Given the description of an element on the screen output the (x, y) to click on. 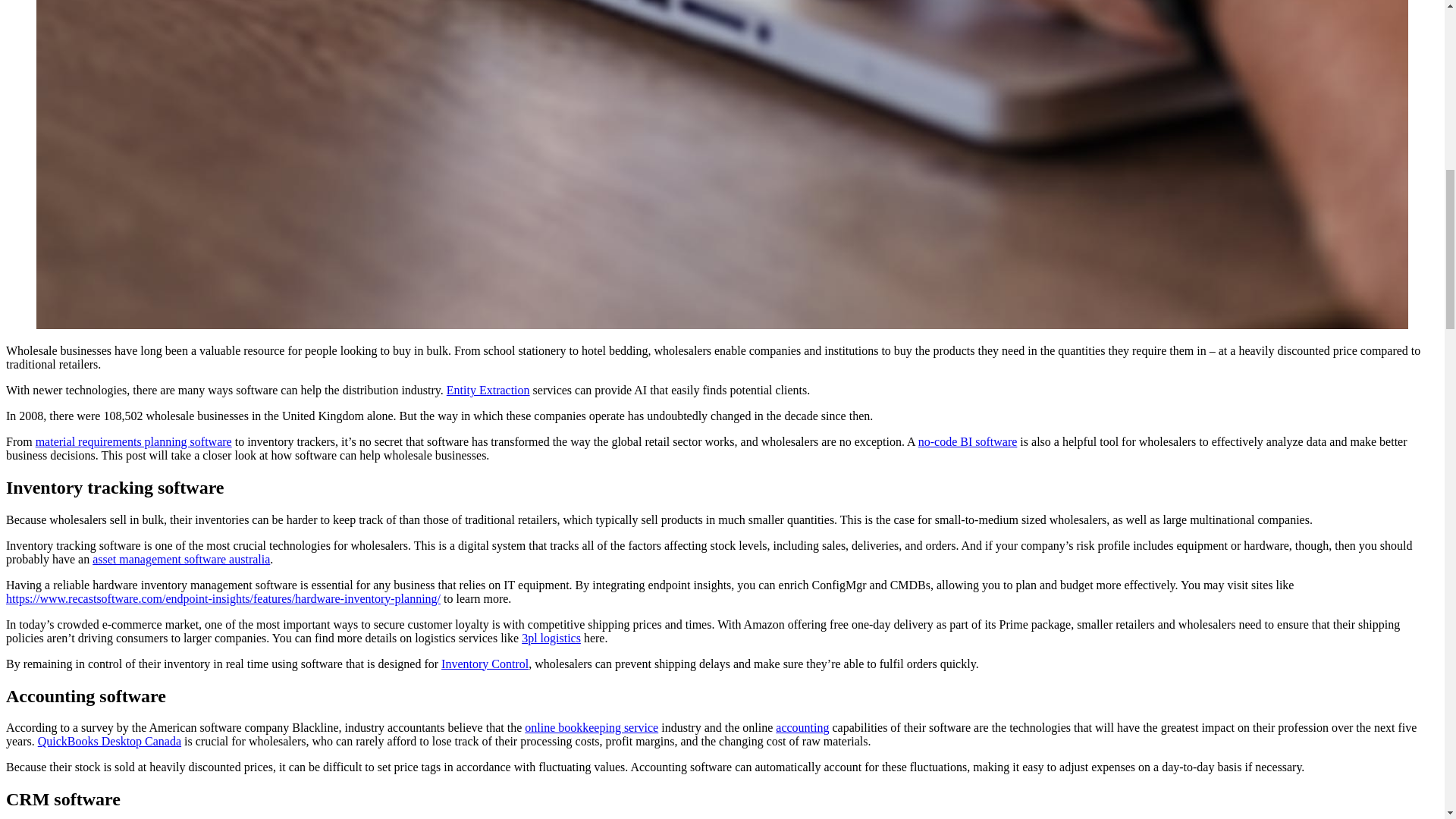
online bookkeeping service (591, 727)
Inventory Control (484, 663)
accounting (802, 727)
Entity Extraction (487, 390)
3pl logistics (550, 637)
asset management software australia (181, 558)
material requirements planning software (132, 440)
no-code BI software (967, 440)
QuickBooks Desktop Canada (108, 740)
